Given the description of an element on the screen output the (x, y) to click on. 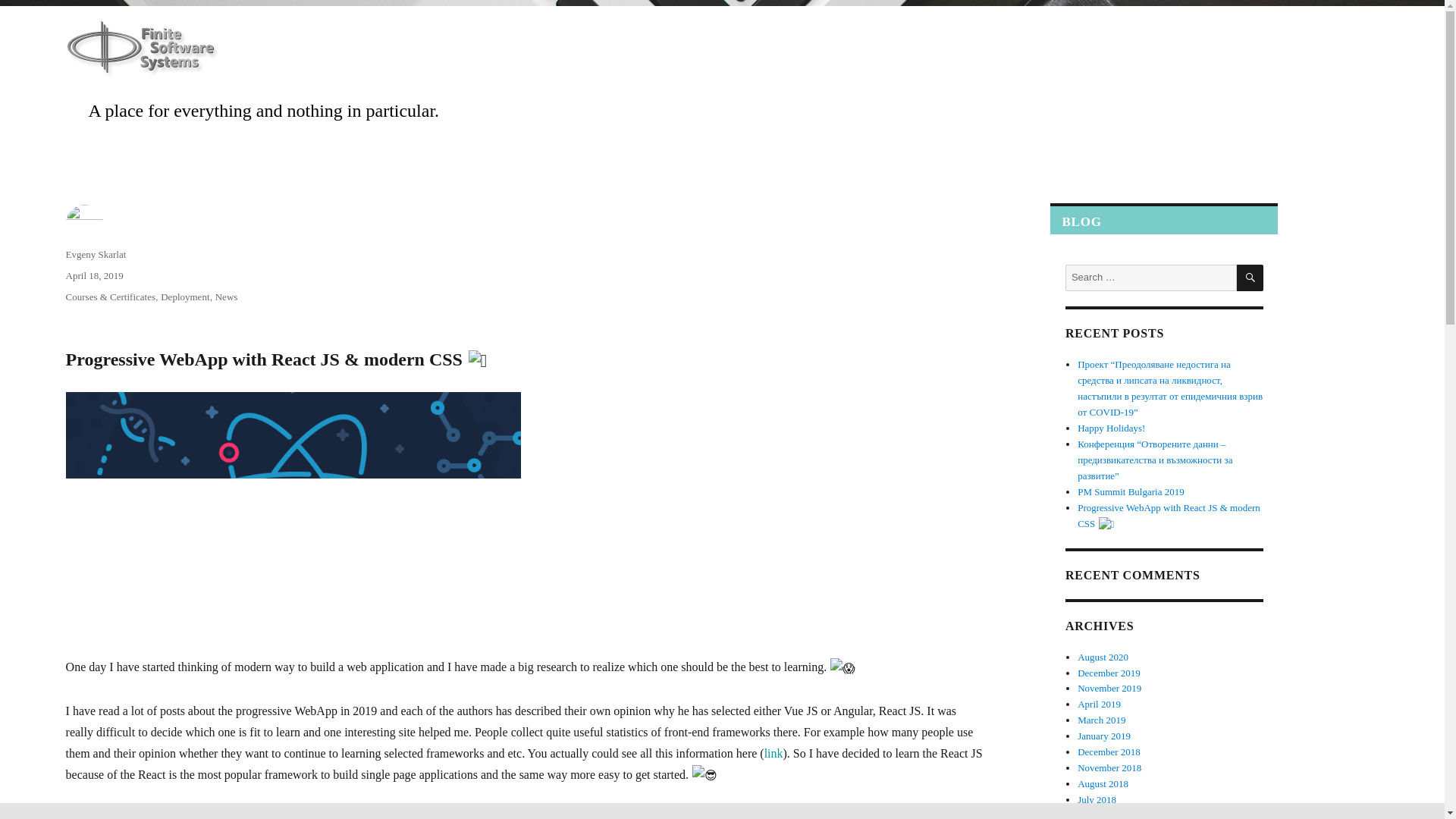
link (773, 753)
April 18, 2019 (94, 275)
April 2019 (1099, 704)
SEARCH (1249, 277)
A place for everything and nothing in particular. (263, 110)
January 2019 (1104, 736)
News (226, 296)
Happy Holidays! (1110, 428)
Deployment (184, 296)
December 2019 (1108, 672)
August 2018 (1102, 783)
November 2019 (1109, 687)
March 2019 (1101, 719)
July 2018 (1096, 799)
May 2018 (1097, 814)
